Given the description of an element on the screen output the (x, y) to click on. 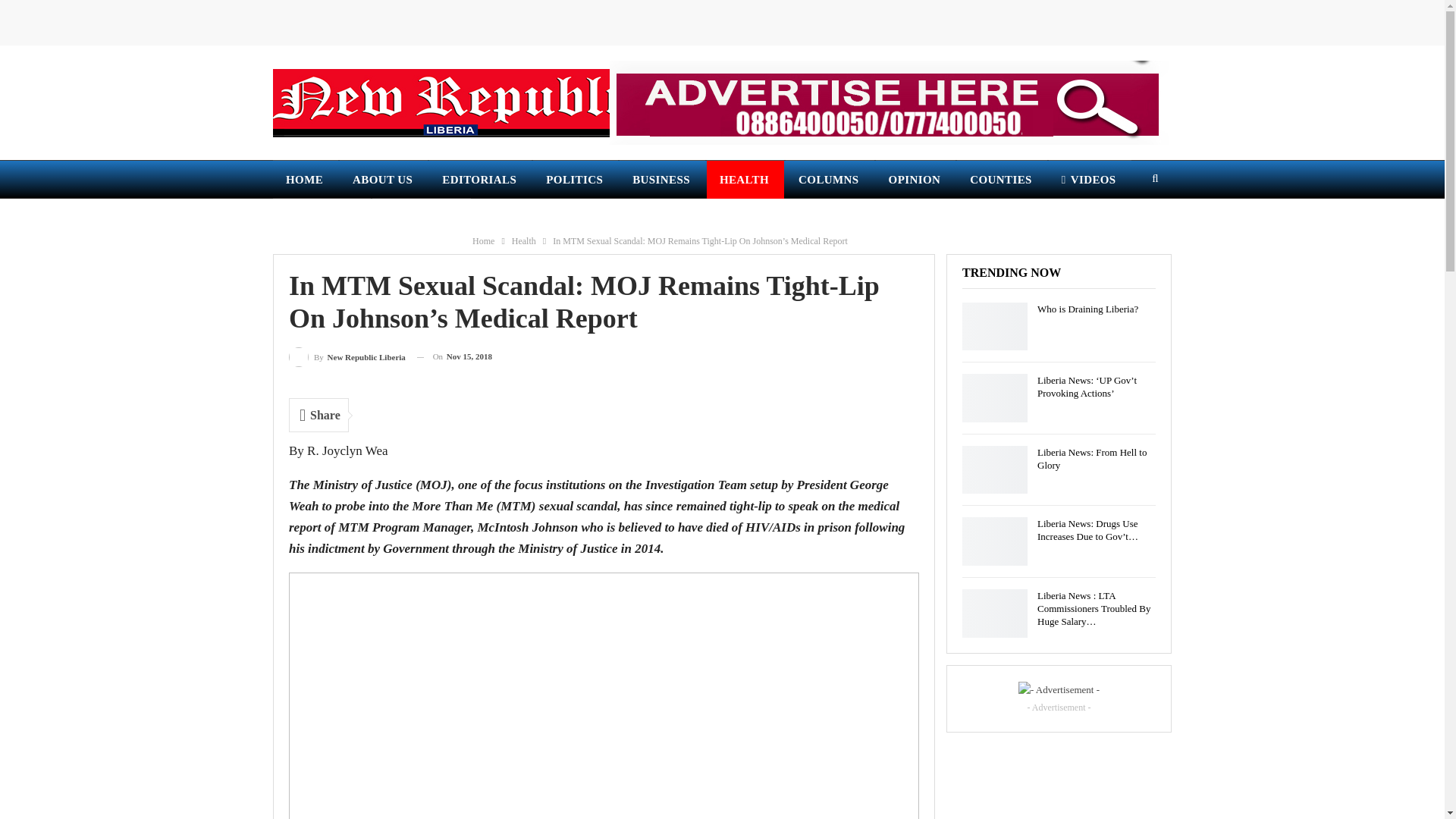
COLUMNS (829, 179)
ABOUT US (383, 179)
Browse Author Articles (347, 356)
Health (523, 240)
BUSINESS (662, 179)
VIEWPOINT (421, 217)
VIDEOS (1089, 179)
INTERVIEW (322, 217)
HOME (305, 179)
POLITICS (574, 179)
